Given the description of an element on the screen output the (x, y) to click on. 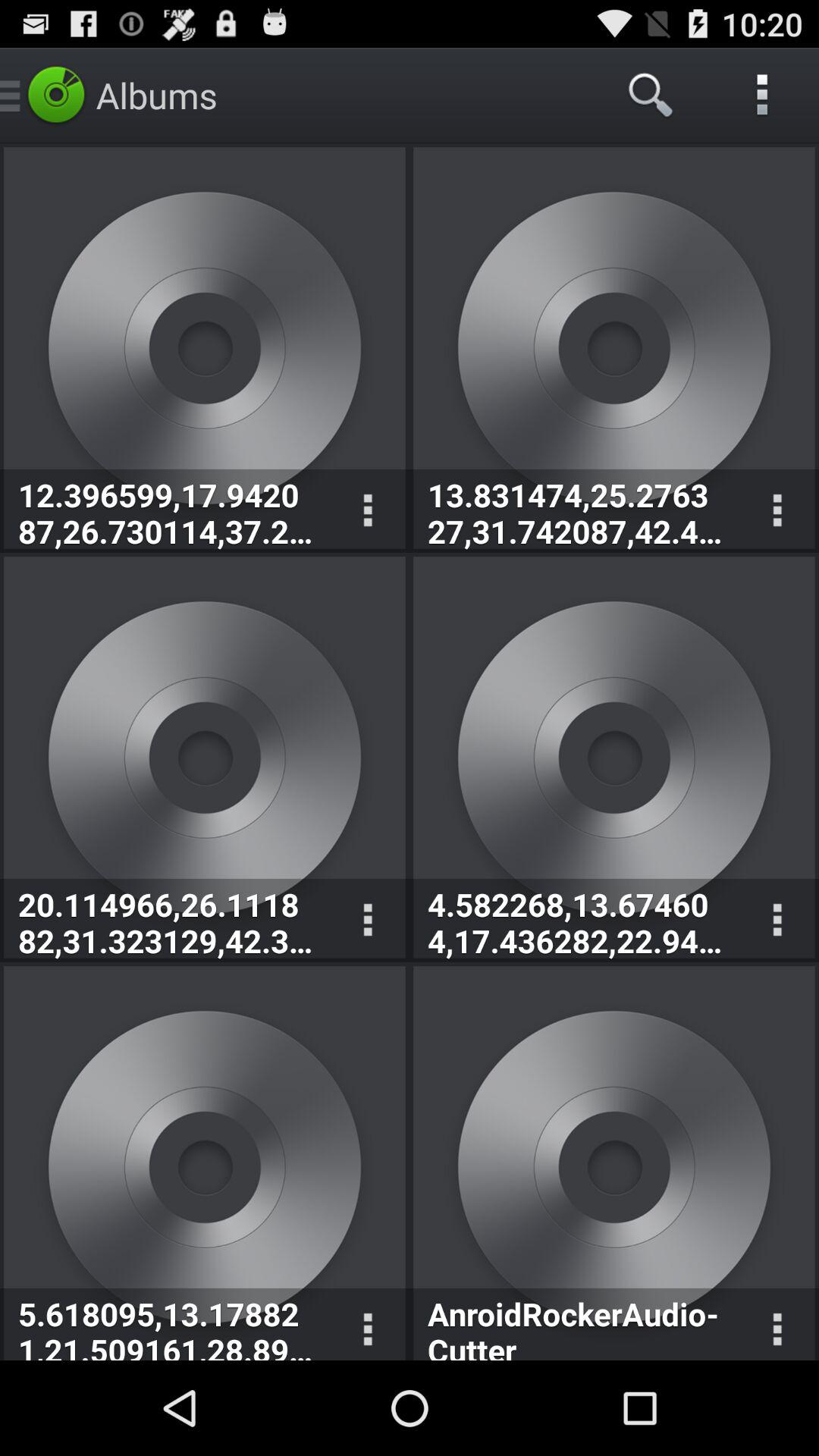
more options (367, 1324)
